Given the description of an element on the screen output the (x, y) to click on. 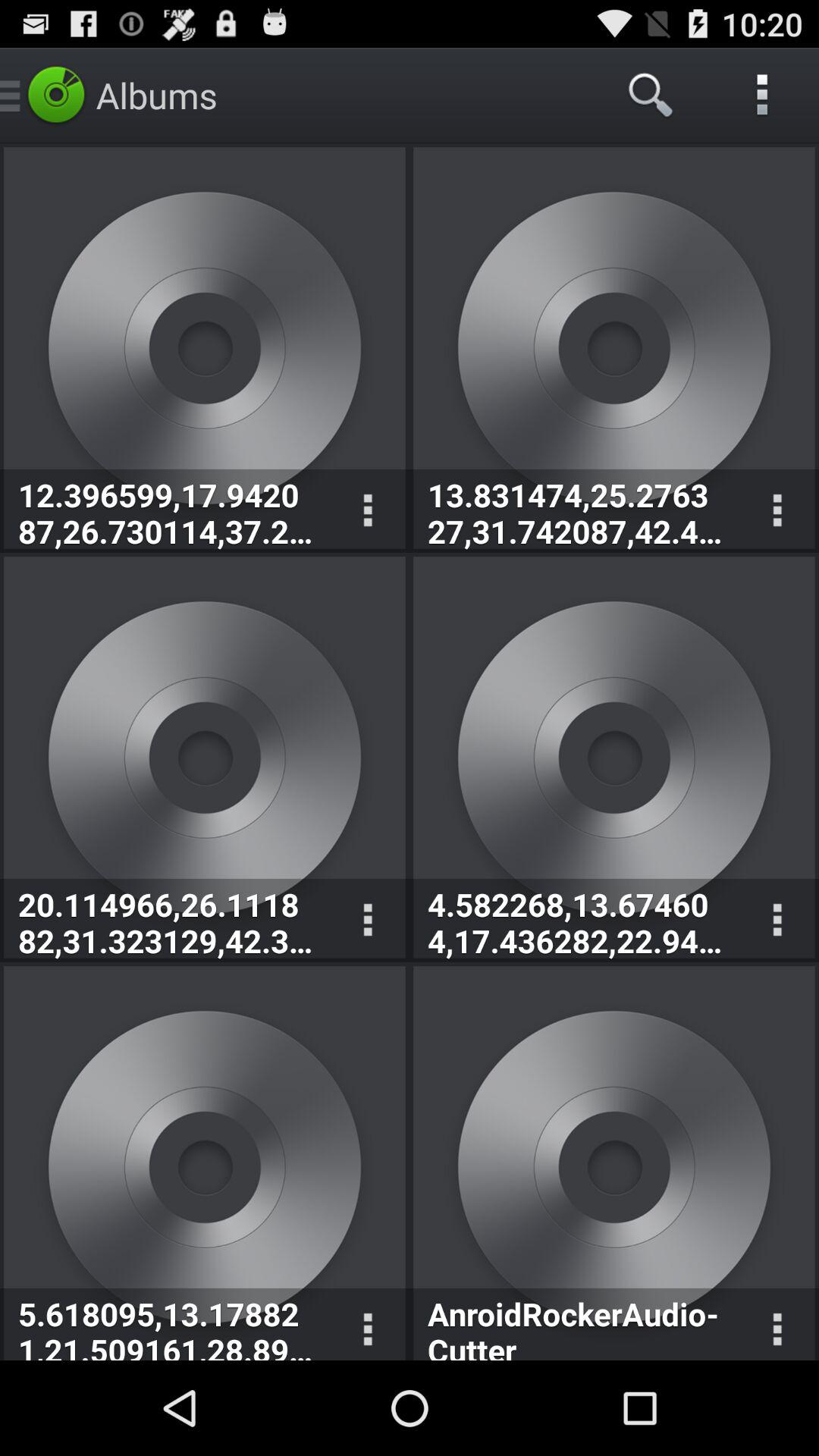
more options (367, 1324)
